Given the description of an element on the screen output the (x, y) to click on. 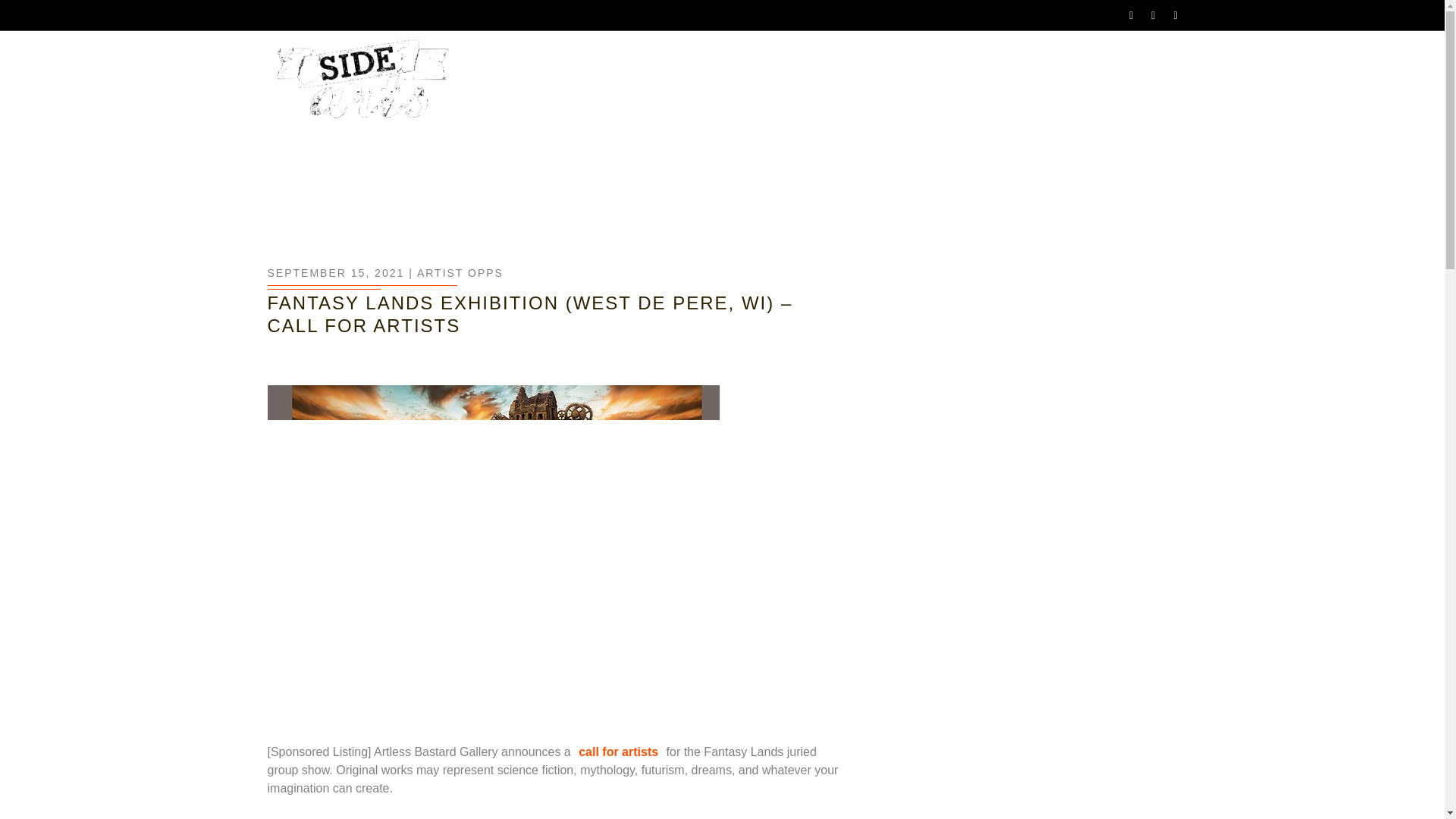
ARTIST OPPS (459, 272)
POST CALLS (1128, 85)
MEMBERSHIP (1003, 86)
ABOUT (740, 86)
call for artists (617, 751)
CALLS FOR ARTISTS (860, 86)
